Given the description of an element on the screen output the (x, y) to click on. 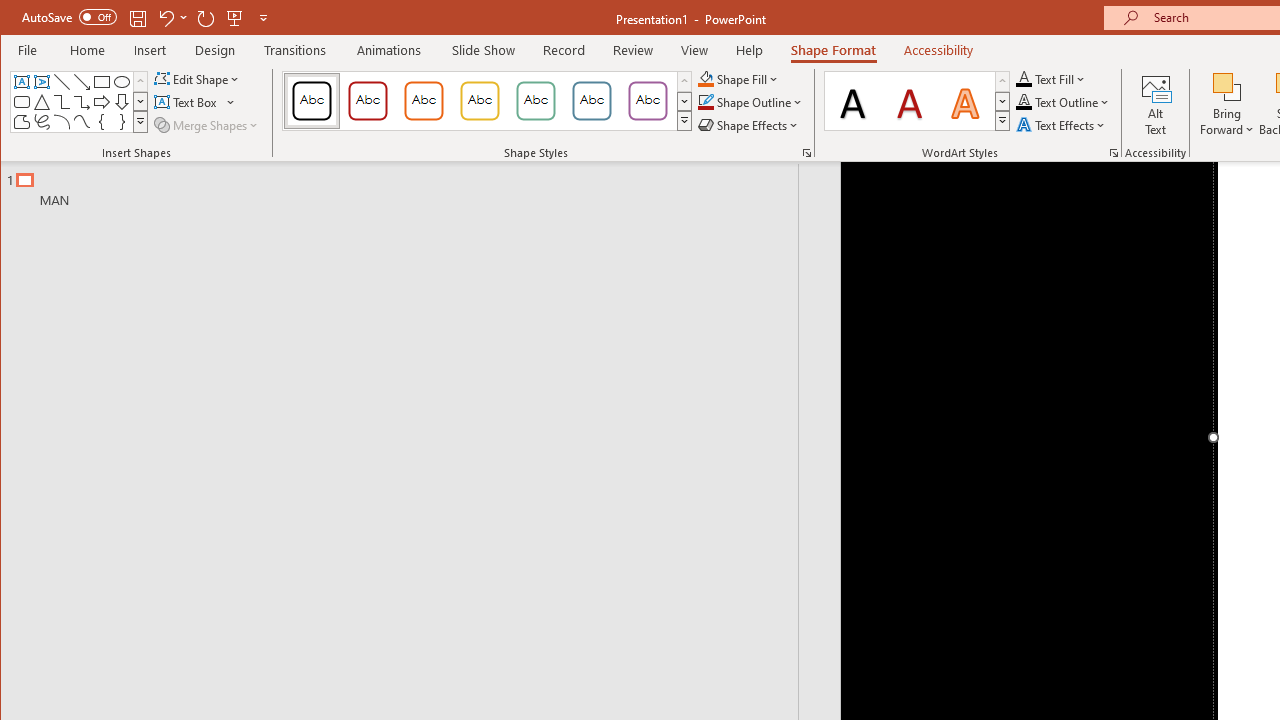
Shape Outline Blue, Accent 1 (705, 101)
Colored Outline - Purple, Accent 6 (647, 100)
AutomationID: TextStylesGallery (917, 101)
